Given the description of an element on the screen output the (x, y) to click on. 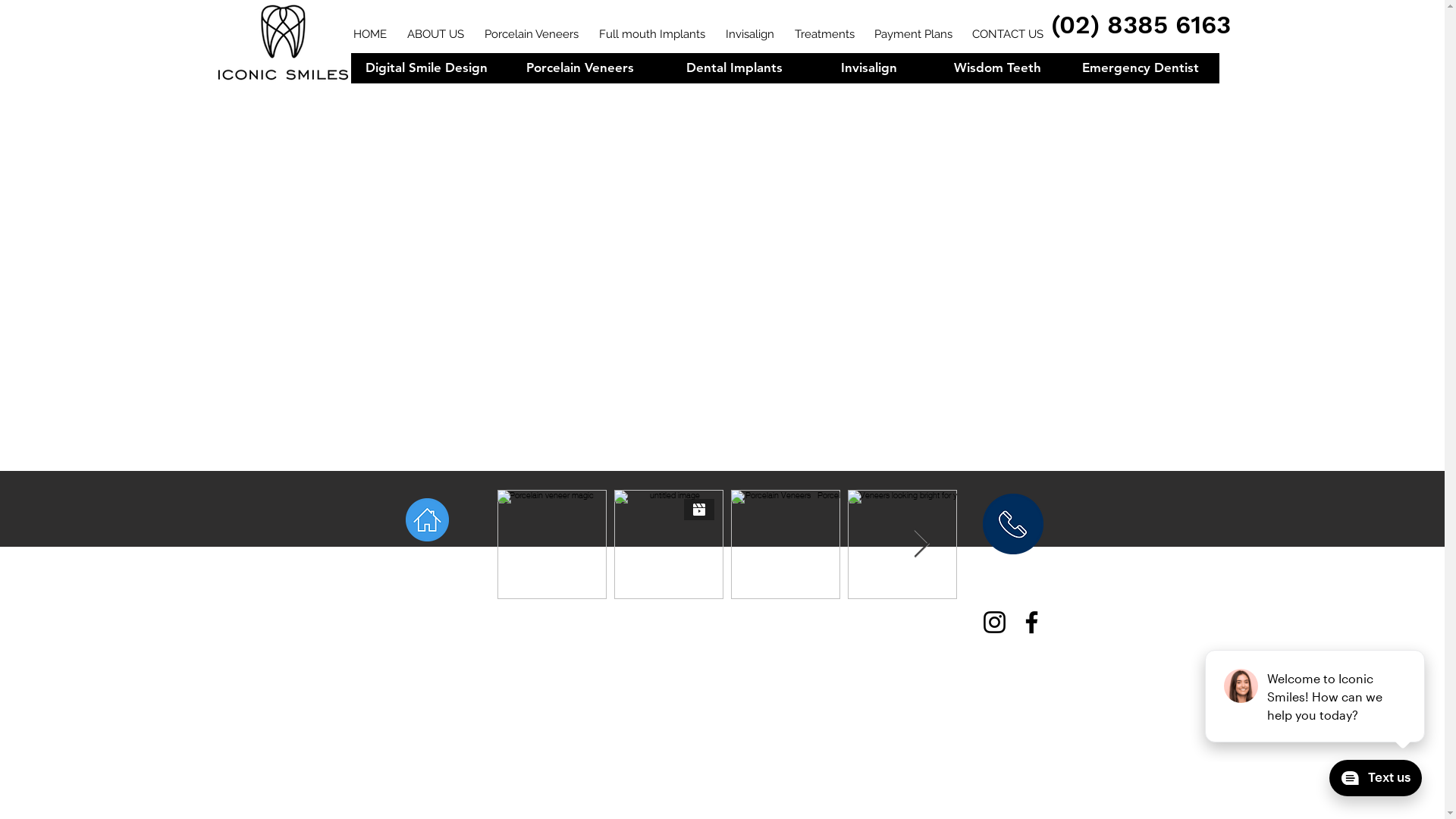
HOME Element type: text (369, 27)
Back to Home Element type: text (426, 566)
CONTACT US Element type: text (1009, 68)
Dental Implants Element type: text (733, 68)
Porcelain Veneers Element type: text (580, 68)
Invisalign Element type: text (749, 27)
ABOUT US Element type: text (435, 27)
Wisdom Teeth Element type: text (996, 68)
Payment Plans Element type: text (914, 68)
Invisalign Element type: text (868, 68)
podium webchat widget prompt Element type: hover (1315, 696)
Instagram Feeds Element type: hover (728, 544)
Digital Smile Design Element type: text (425, 68)
Call us now Element type: hover (1012, 523)
Porcelain Veneers Element type: text (533, 68)
Porcelain Veneers Element type: text (531, 27)
HOME Element type: text (372, 68)
Full mouth Implants Element type: text (651, 27)
Emergency Dentist Element type: text (1139, 68)
ABOUT US Element type: text (437, 68)
CONTACT US Element type: text (1006, 27)
Invisalign Element type: text (751, 68)
Payment Plans Element type: text (913, 27)
Full mouth Implants Element type: text (654, 68)
(02) 8385 6163 Element type: text (1140, 24)
